Given the description of an element on the screen output the (x, y) to click on. 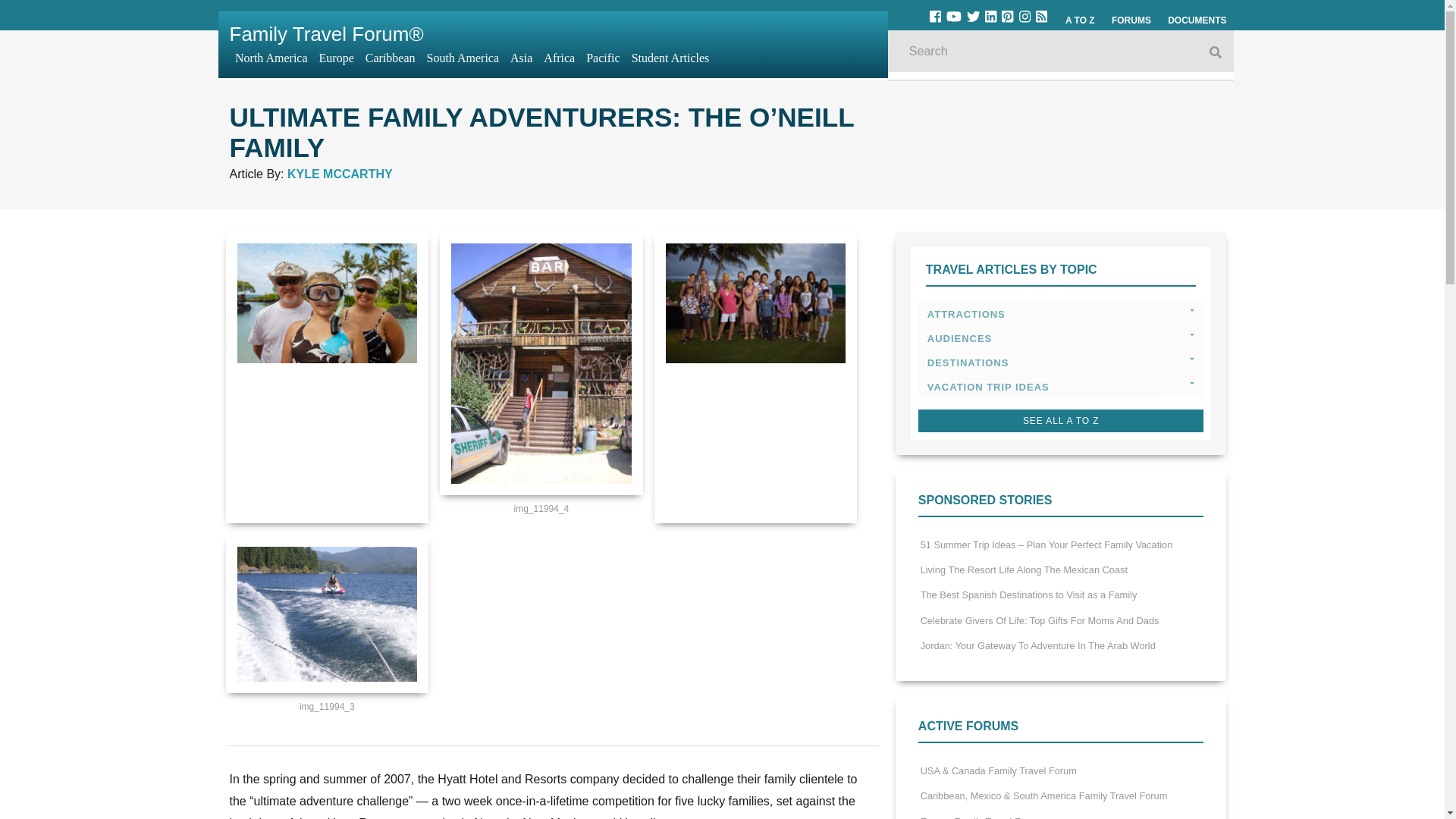
ATTRACTIONS (1061, 313)
AUDIENCES (1061, 337)
Family Travel Forum (325, 33)
Travel Documents (1196, 20)
KYLE MCCARTHY (339, 173)
Forums (1131, 20)
A to Z Links (1079, 20)
